Given the description of an element on the screen output the (x, y) to click on. 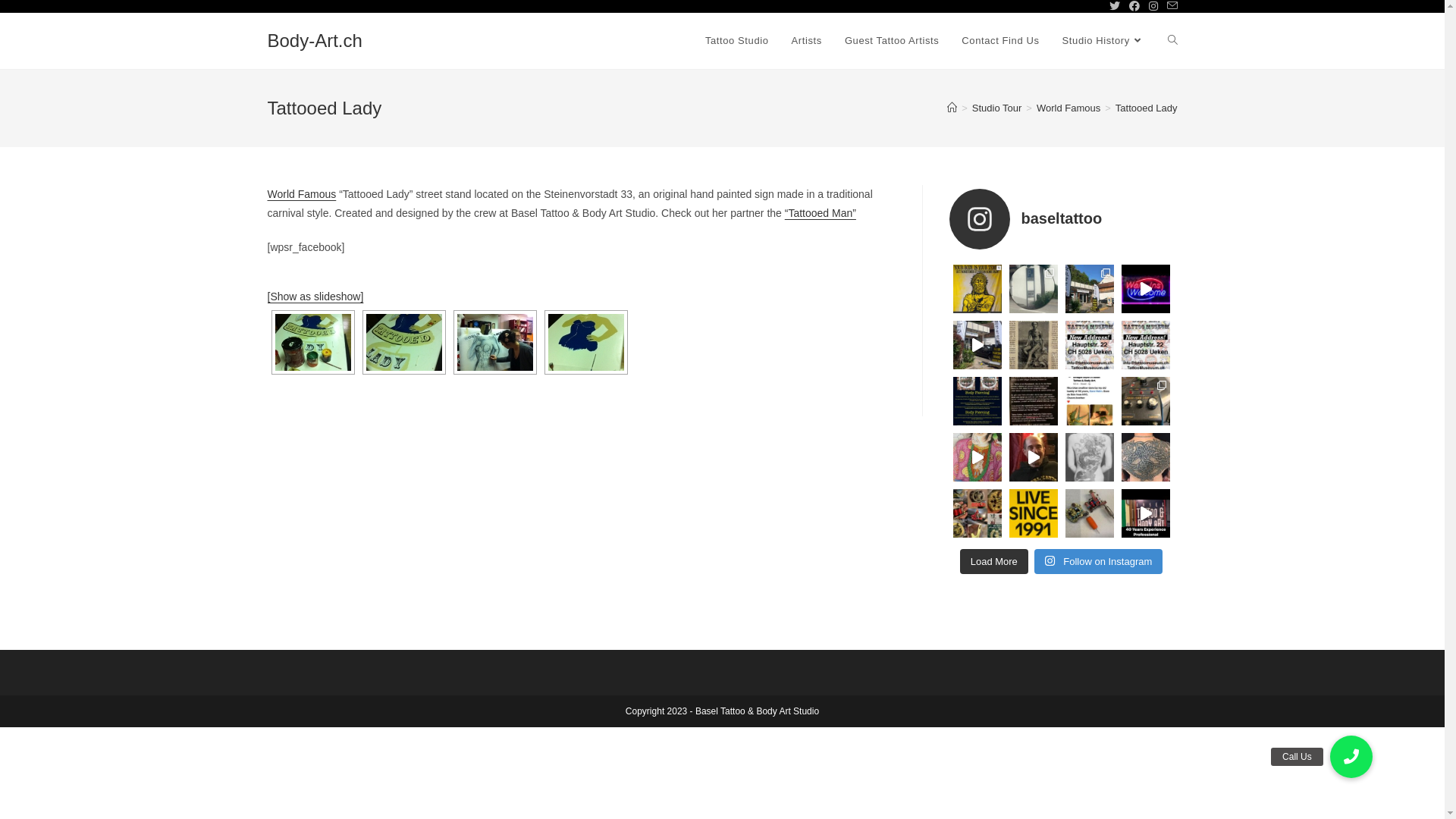
Studio Tour Element type: text (997, 107)
Famous Tattooed Lady Street Stand Element type: hover (585, 341)
[Show as slideshow] Element type: text (314, 296)
Call Us Element type: text (1351, 756)
Body-Art.ch Element type: text (313, 40)
Studio History Element type: text (1103, 40)
Tattooed Lady Element type: text (1146, 107)
Load More Element type: text (994, 561)
Artists Element type: text (806, 40)
World Famous Element type: text (1068, 107)
baseltattoo Element type: text (1061, 218)
The beginning.... Element type: hover (312, 341)
World Famous Element type: text (300, 194)
Tattooed Element type: hover (403, 341)
Tattoo Studio Element type: text (736, 40)
Guest Tattoo Artists Element type: text (891, 40)
Contact Find Us Element type: text (1000, 40)
Toggle website search Element type: text (1171, 40)
Famous Tattooed Lady Street Stand Element type: hover (494, 341)
Follow on Instagram Element type: text (1098, 561)
